Given the description of an element on the screen output the (x, y) to click on. 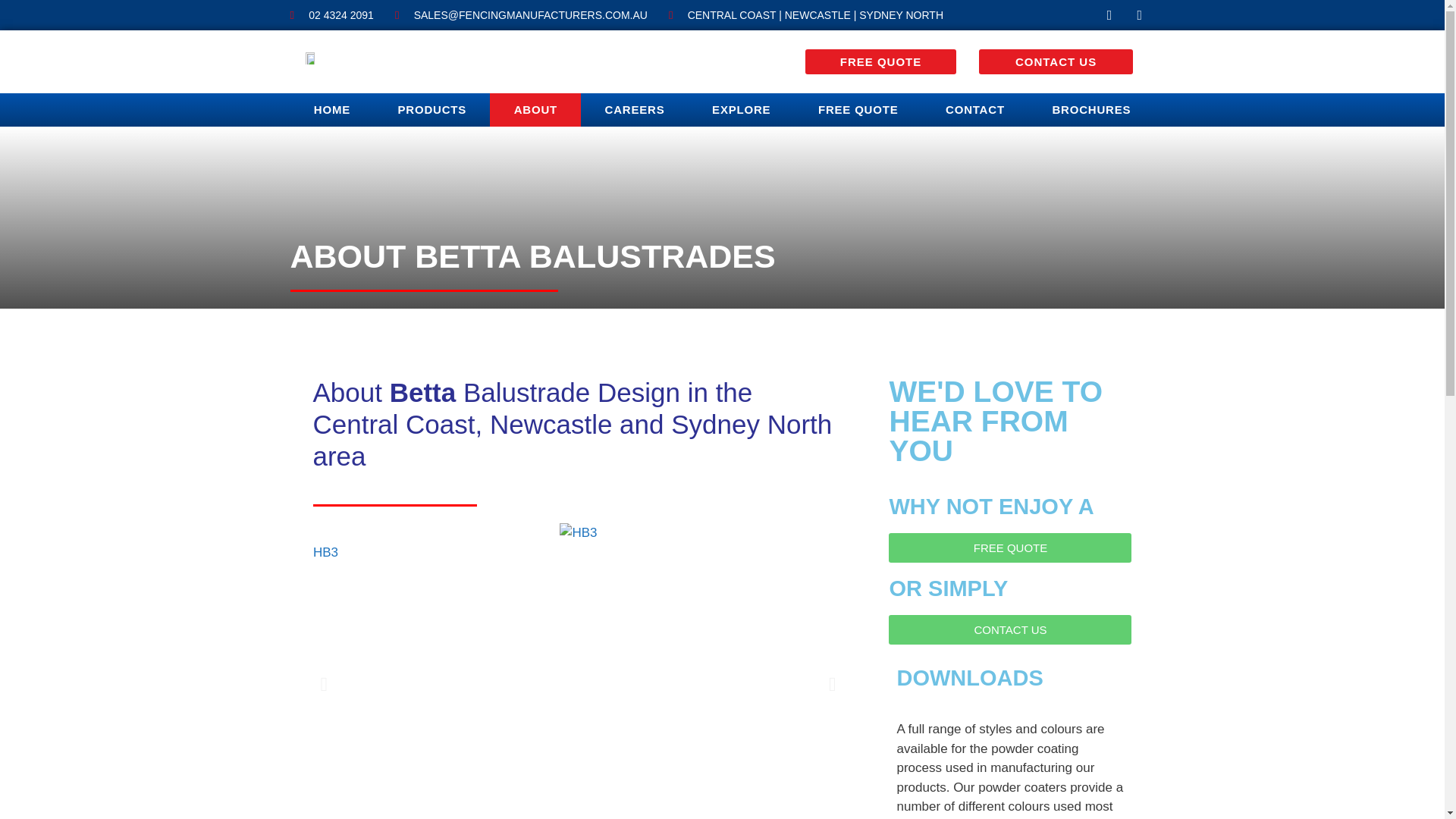
HOME (331, 109)
FREE QUOTE (880, 61)
CONTACT US (1055, 61)
BROCHURES (1090, 109)
PRODUCTS (431, 109)
EXPLORE (741, 109)
CONTACT (974, 109)
ABOUT (534, 109)
02 4324 2091 (330, 15)
FREE QUOTE (857, 109)
CAREERS (634, 109)
